Given the description of an element on the screen output the (x, y) to click on. 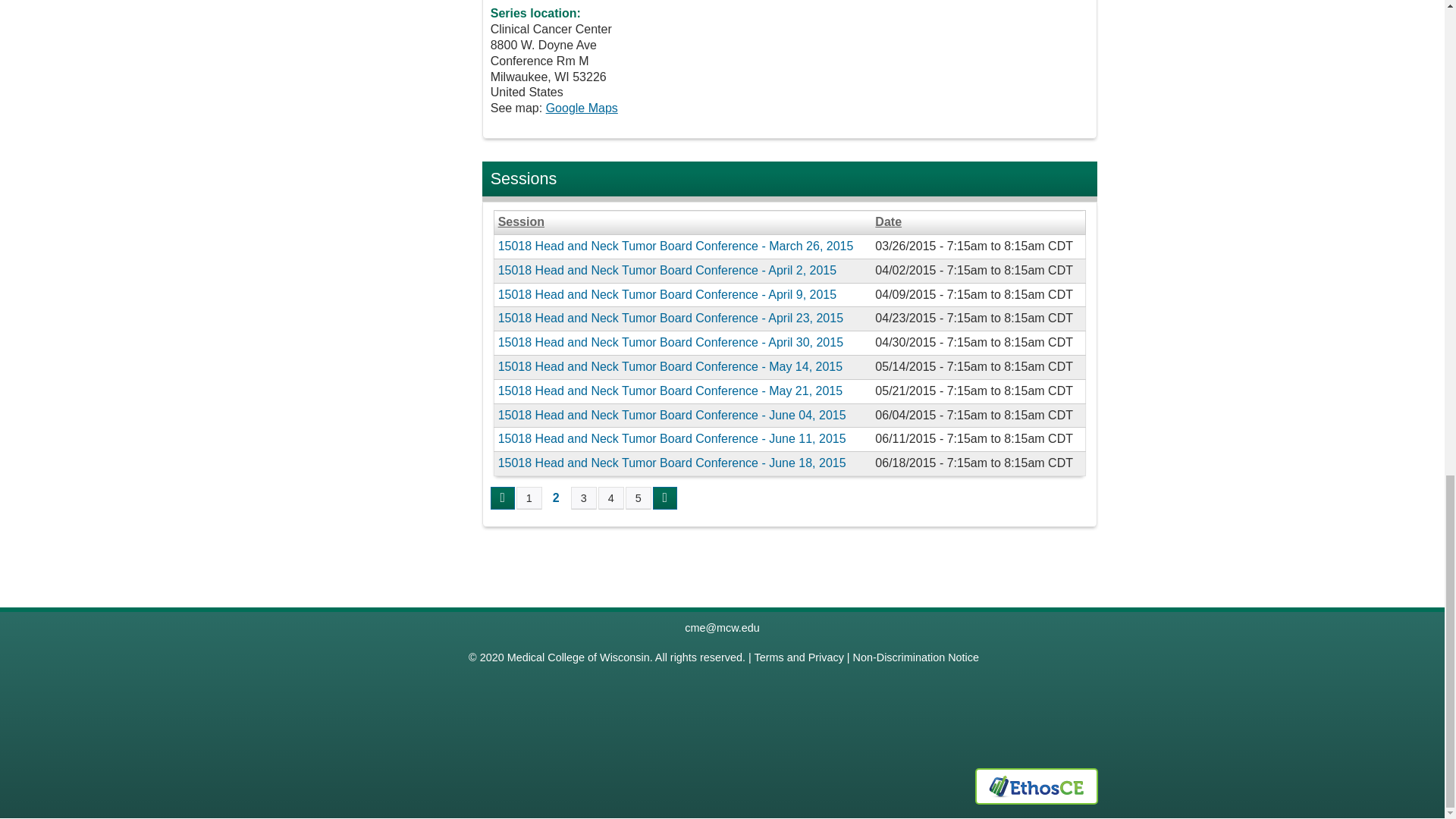
Go to previous page (502, 497)
Date (977, 222)
15018 Head and Neck Tumor Board Conference - April 9, 2015 (667, 294)
15018 Head and Neck Tumor Board Conference - March 26, 2015 (675, 245)
Go to page 1 (528, 497)
sort by Session (682, 222)
Go to page 4 (611, 497)
Go to page 5 (638, 497)
15018 Head and Neck Tumor Board Conference - April 23, 2015 (670, 318)
Session (682, 222)
sort by Date (977, 222)
Go to page 3 (583, 497)
15018 Head and Neck Tumor Board Conference - April 2, 2015 (667, 269)
Google Maps (581, 107)
